Given the description of an element on the screen output the (x, y) to click on. 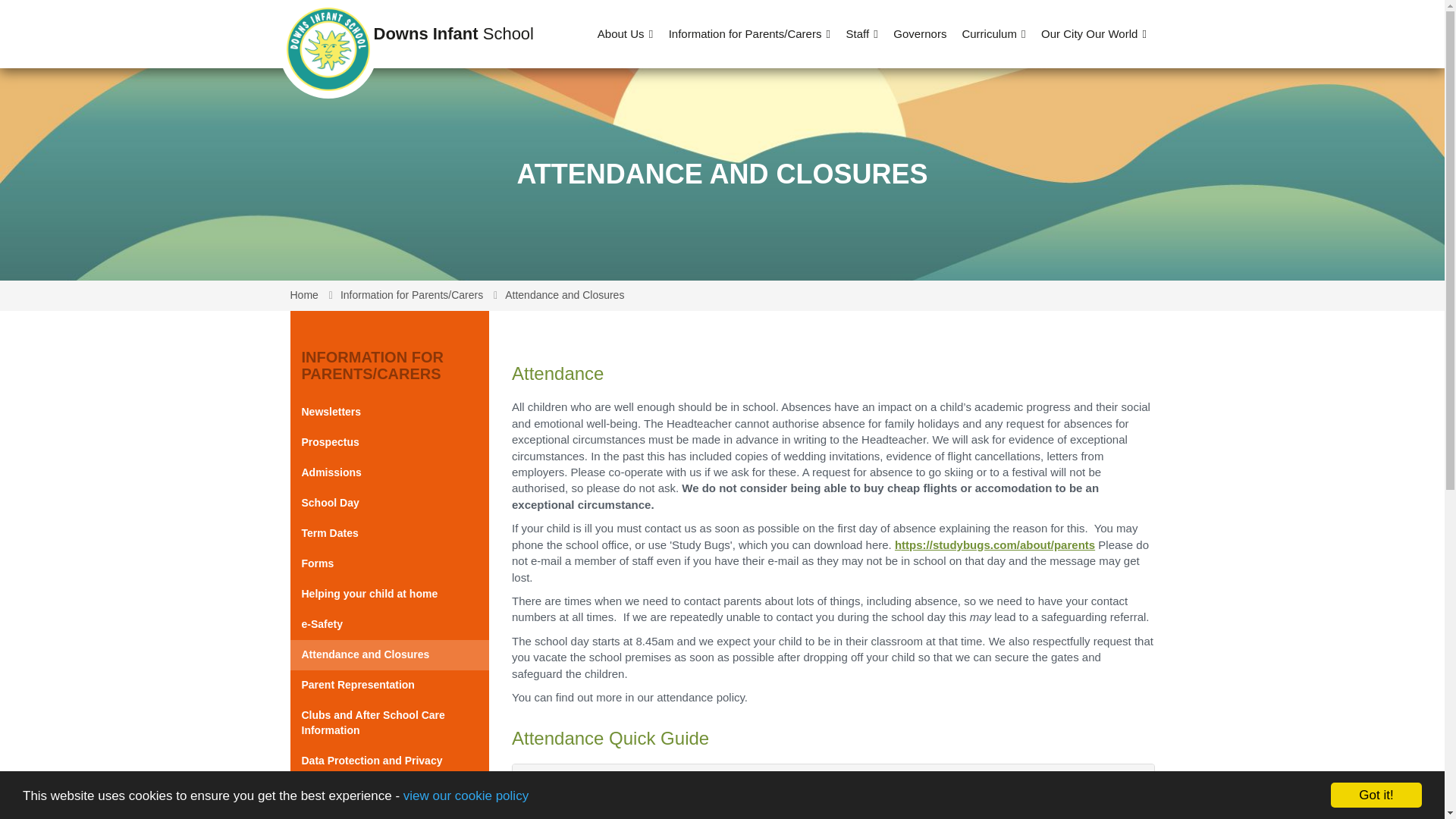
Staff (862, 33)
About Us (625, 33)
Downs Infant School (328, 33)
